Given the description of an element on the screen output the (x, y) to click on. 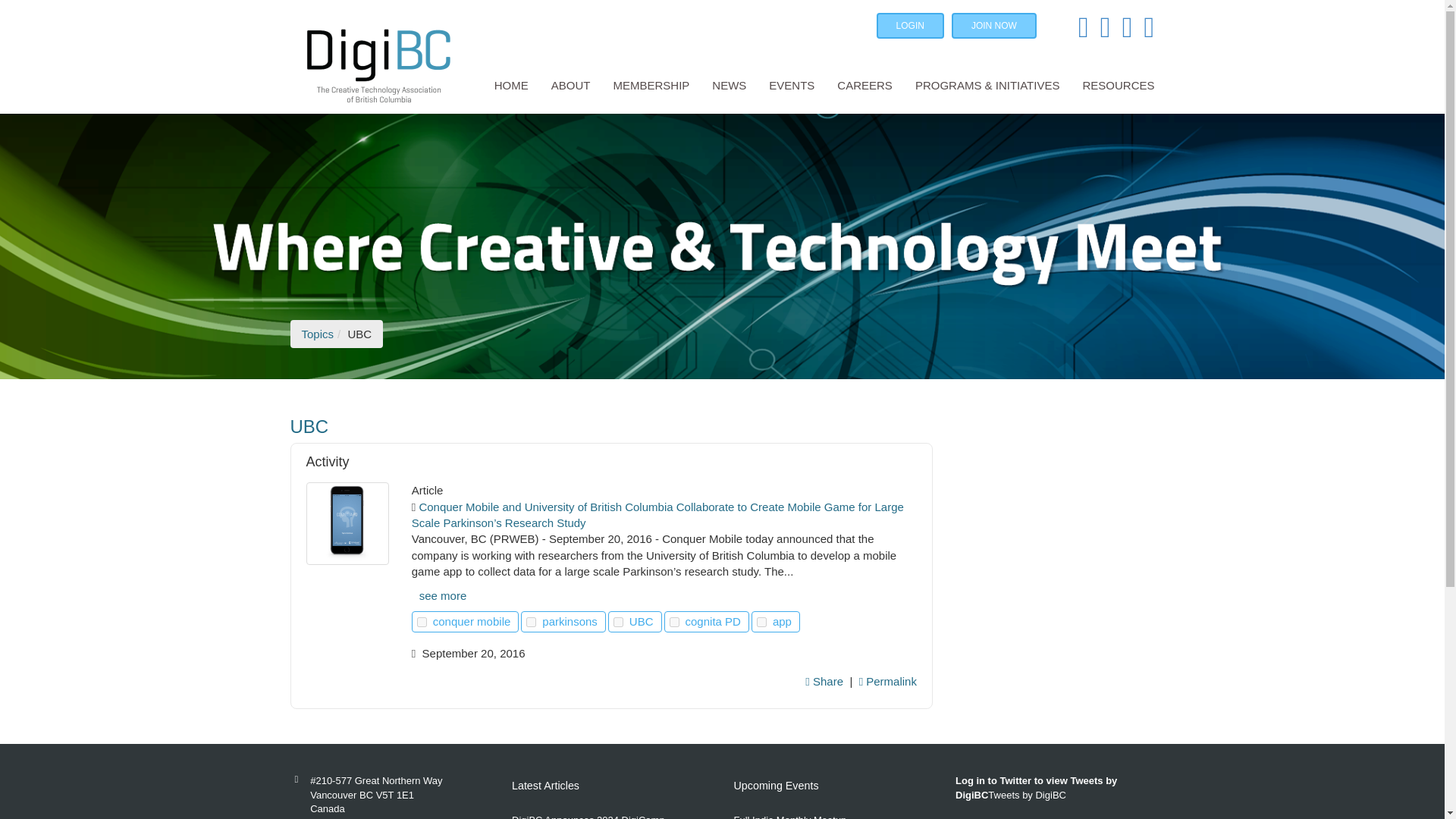
Go to tag page: UBC (642, 621)
Go to tag page: app (783, 621)
Follow (421, 622)
Go to tag page: conquer mobile (473, 621)
on (674, 622)
UBC (611, 426)
Follow (617, 622)
Go to tag page: parkinsons (571, 621)
on (530, 622)
on (421, 622)
on (617, 622)
on (762, 622)
Follow (762, 622)
Go to tag page: cognita PD (713, 621)
Follow (530, 622)
